Given the description of an element on the screen output the (x, y) to click on. 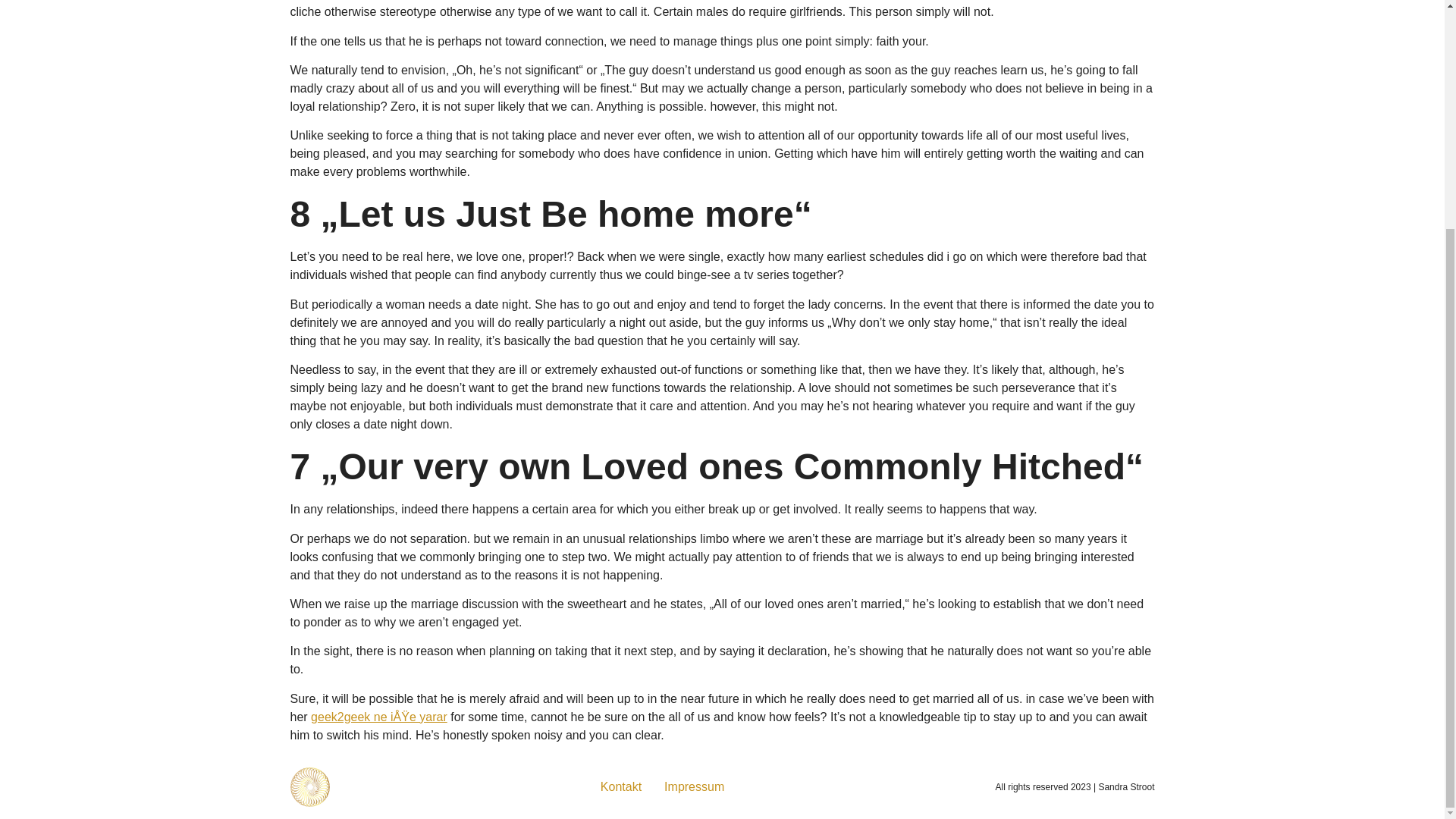
Impressum (693, 786)
Kontakt (620, 786)
